Given the description of an element on the screen output the (x, y) to click on. 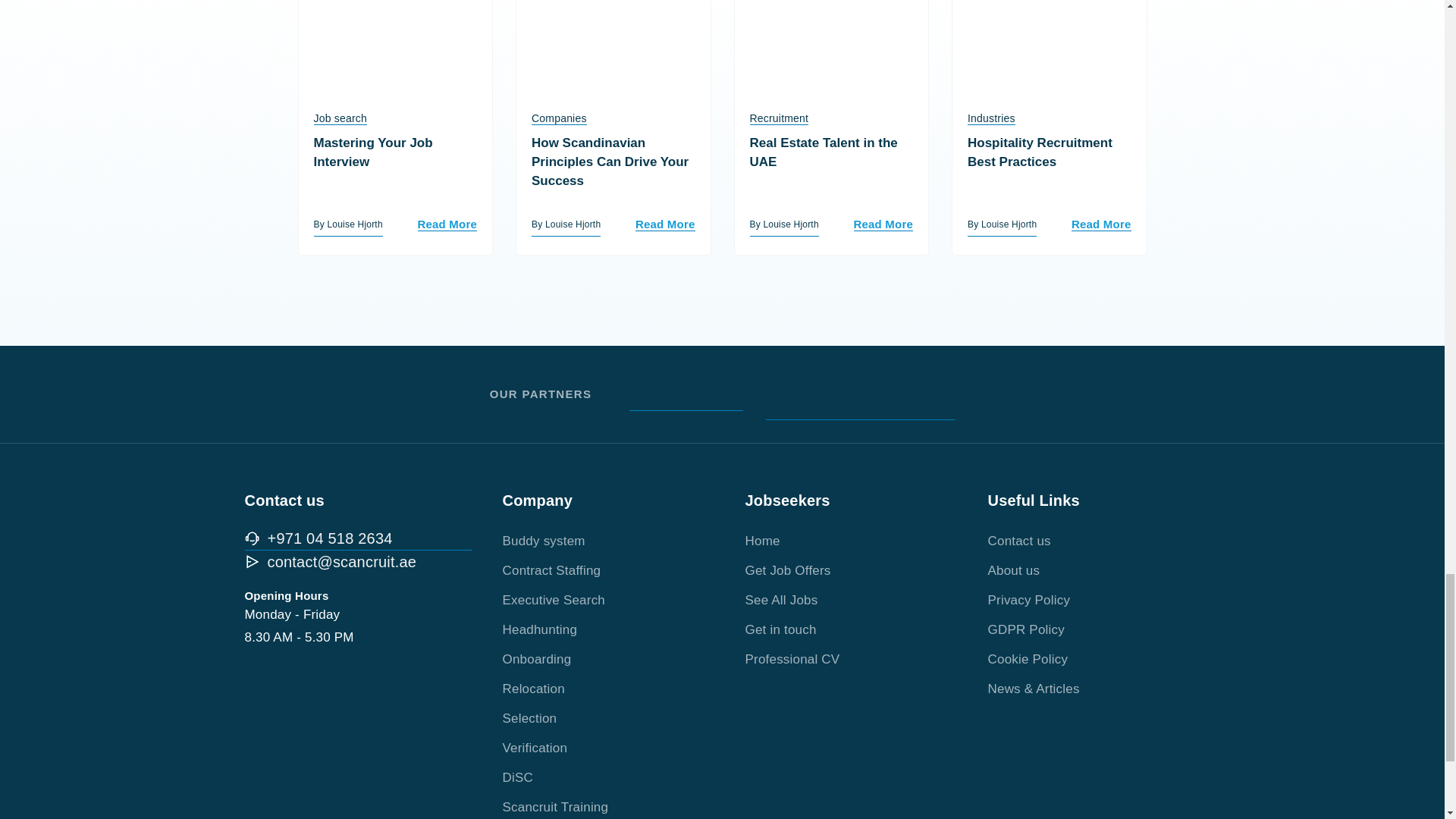
Untitled design-14 (395, 45)
Blog picture size-2 (1049, 45)
lesya-soboleva-rg6Uyet8rl0-unsplash (830, 45)
Blog picture size (613, 45)
